Given the description of an element on the screen output the (x, y) to click on. 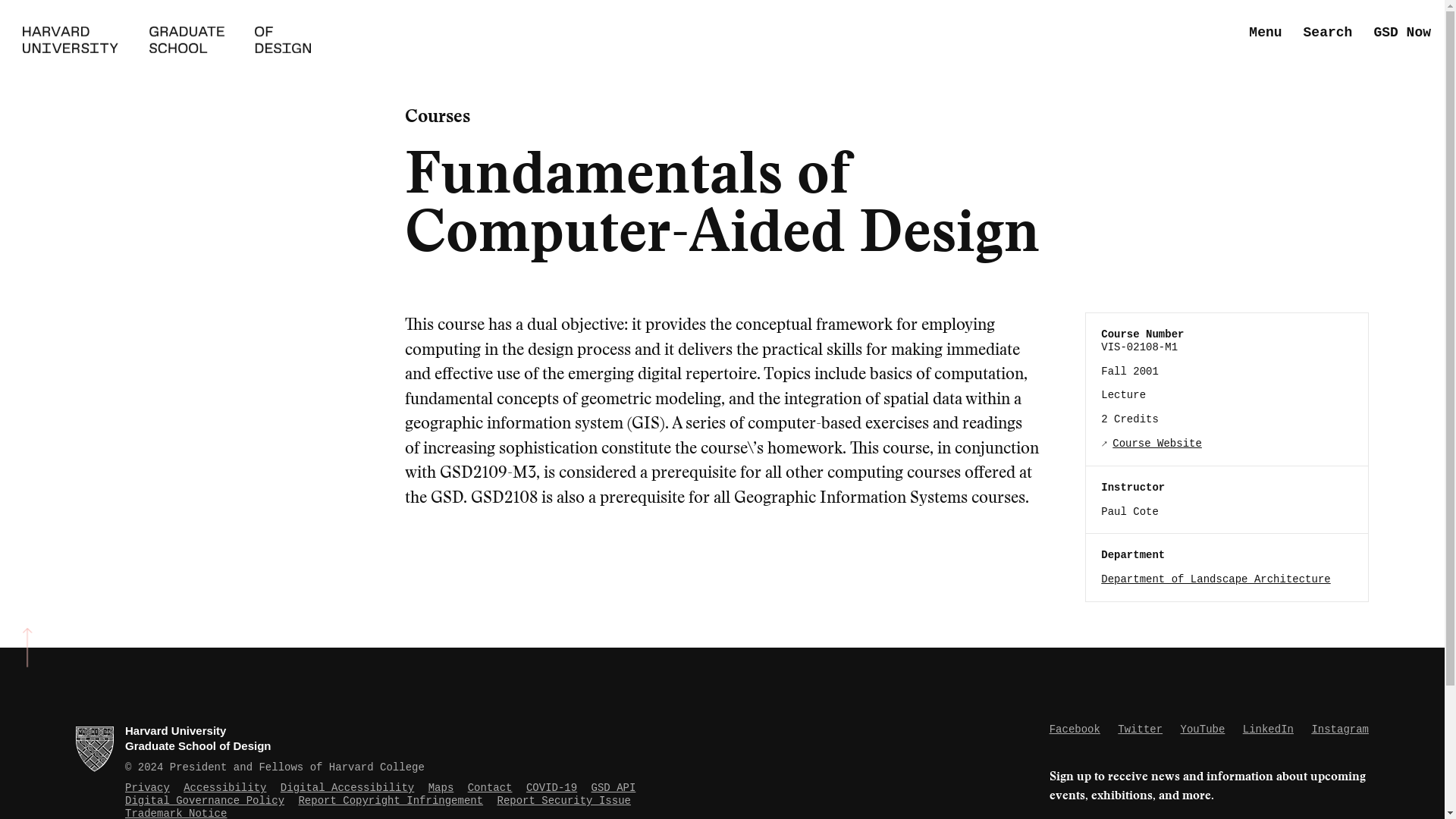
Search (1327, 32)
Menu (1265, 32)
GSD Now (1402, 32)
